Given the description of an element on the screen output the (x, y) to click on. 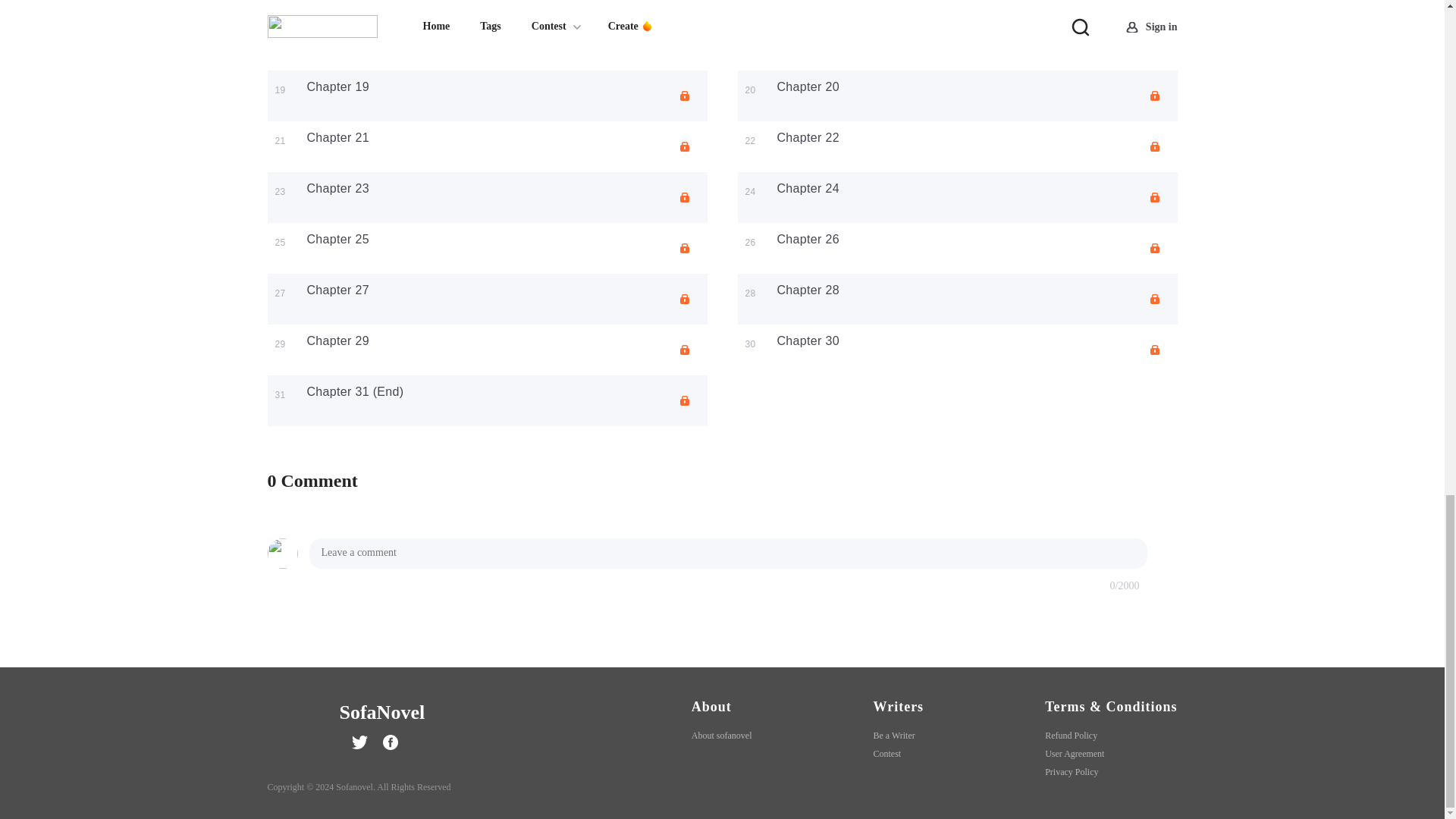
Chapter 19 (336, 86)
Chapter 18 (807, 35)
Chapter 21 (336, 137)
Chapter 17 (336, 35)
Chapter 20 (807, 86)
